Given the description of an element on the screen output the (x, y) to click on. 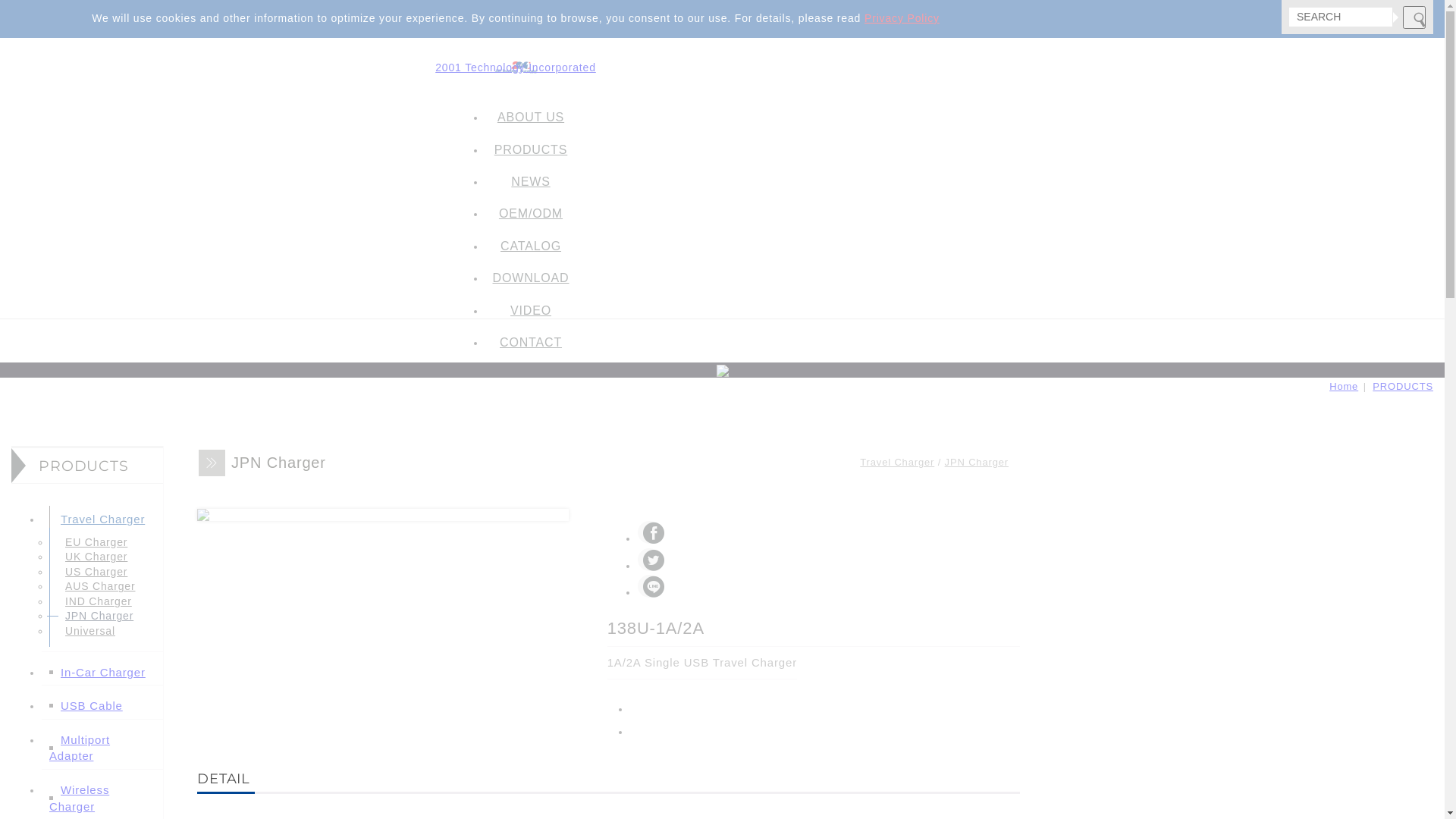
VIDEO Element type: text (530, 310)
ABOUT US Element type: text (530, 117)
2001 Technology Incorporated Element type: text (515, 67)
USB Cable Element type: text (85, 705)
EU Charger Element type: text (88, 541)
Share to LINE Element type: hover (648, 585)
Privacy Policy Element type: text (901, 18)
US Charger Element type: text (88, 571)
AUS Charger Element type: text (92, 585)
In-Car Charger Element type: text (97, 671)
PRODUCTS Element type: text (530, 150)
JPN Charger Element type: text (91, 615)
Home Element type: text (1343, 386)
IND Charger Element type: text (90, 600)
PRODUCTS Element type: text (1402, 386)
Travel Charger Element type: text (96, 518)
DOWNLOAD Element type: text (530, 278)
Travel Charger Element type: text (896, 461)
CONTACT Element type: text (530, 342)
UK Charger Element type: text (88, 556)
JPN Charger Element type: text (976, 461)
CATALOG Element type: text (530, 246)
OEM/ODM Element type: text (530, 213)
Universal Element type: text (82, 630)
Multiport Adapter Element type: text (79, 747)
Wireless Charger Element type: text (79, 797)
NEWS Element type: text (530, 181)
Share to Facebook Element type: hover (648, 531)
Share to Twitter Element type: hover (648, 558)
